Given the description of an element on the screen output the (x, y) to click on. 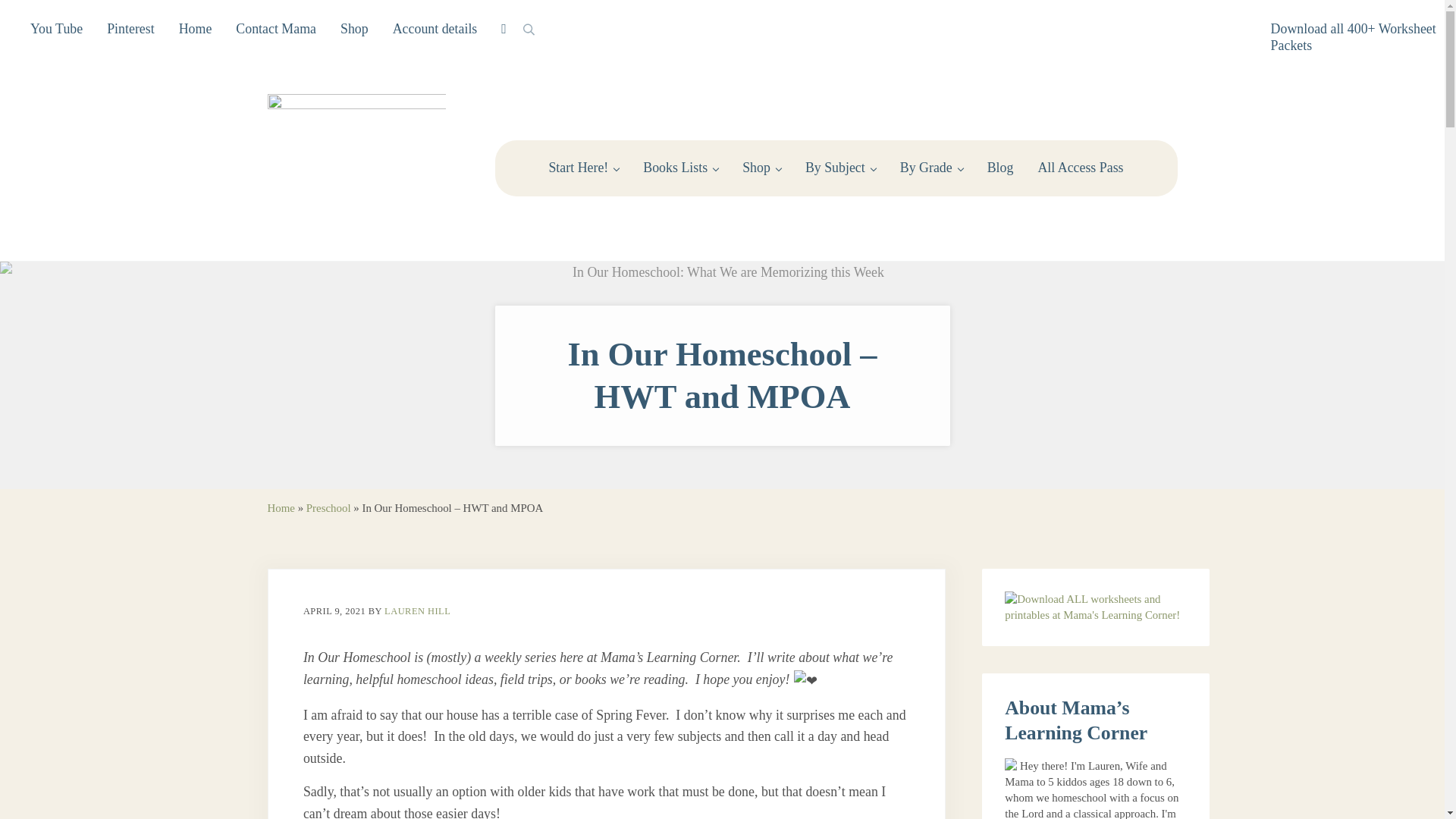
Account details (434, 29)
Preschool (327, 508)
Pinterest (130, 29)
By Grade (931, 168)
logo - Mamas Learning Corner (355, 168)
Contact Mama (276, 29)
Home (280, 508)
You Tube (55, 29)
Books Lists (680, 168)
Home (195, 29)
